Given the description of an element on the screen output the (x, y) to click on. 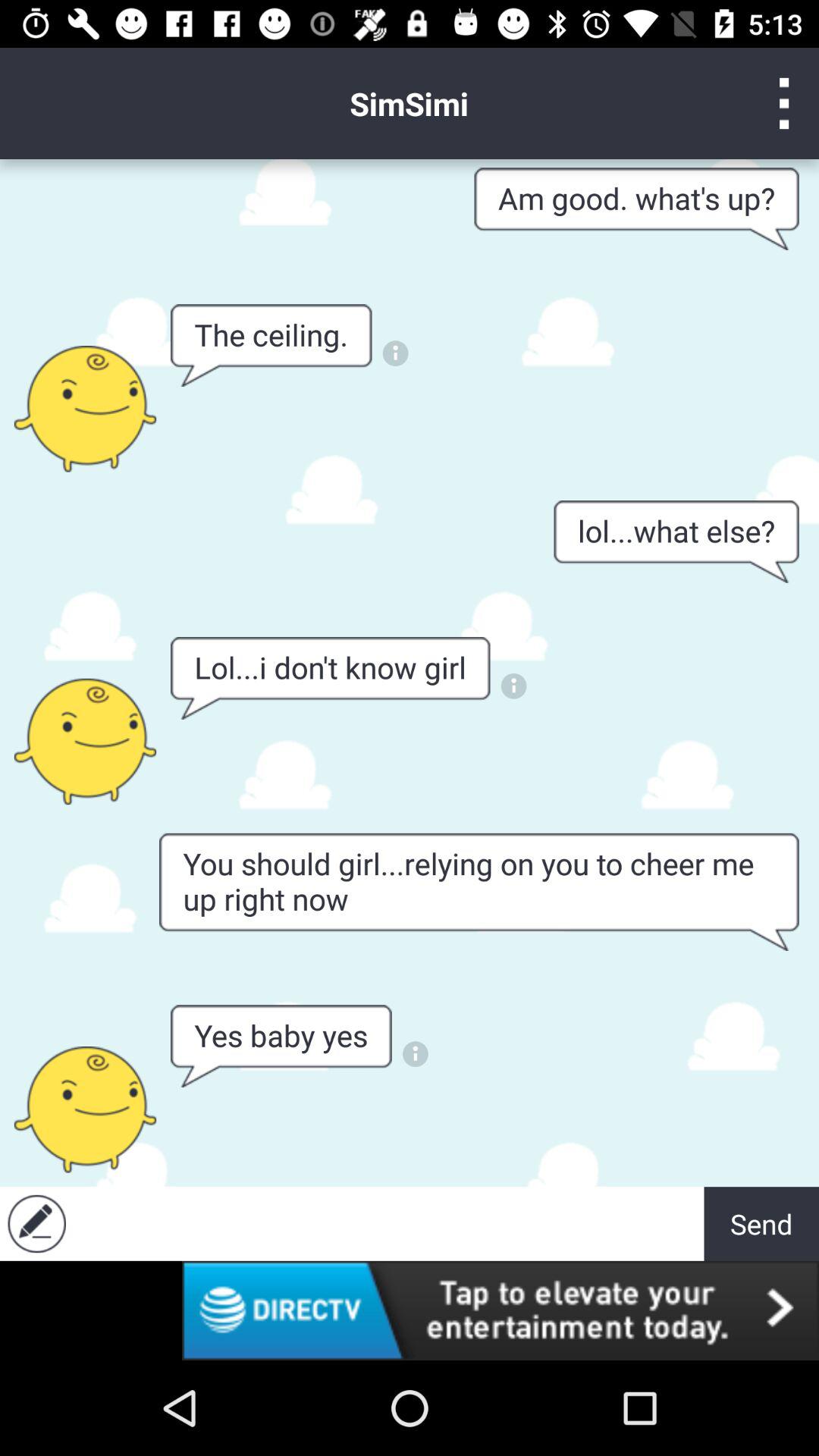
clik to notification (395, 353)
